Given the description of an element on the screen output the (x, y) to click on. 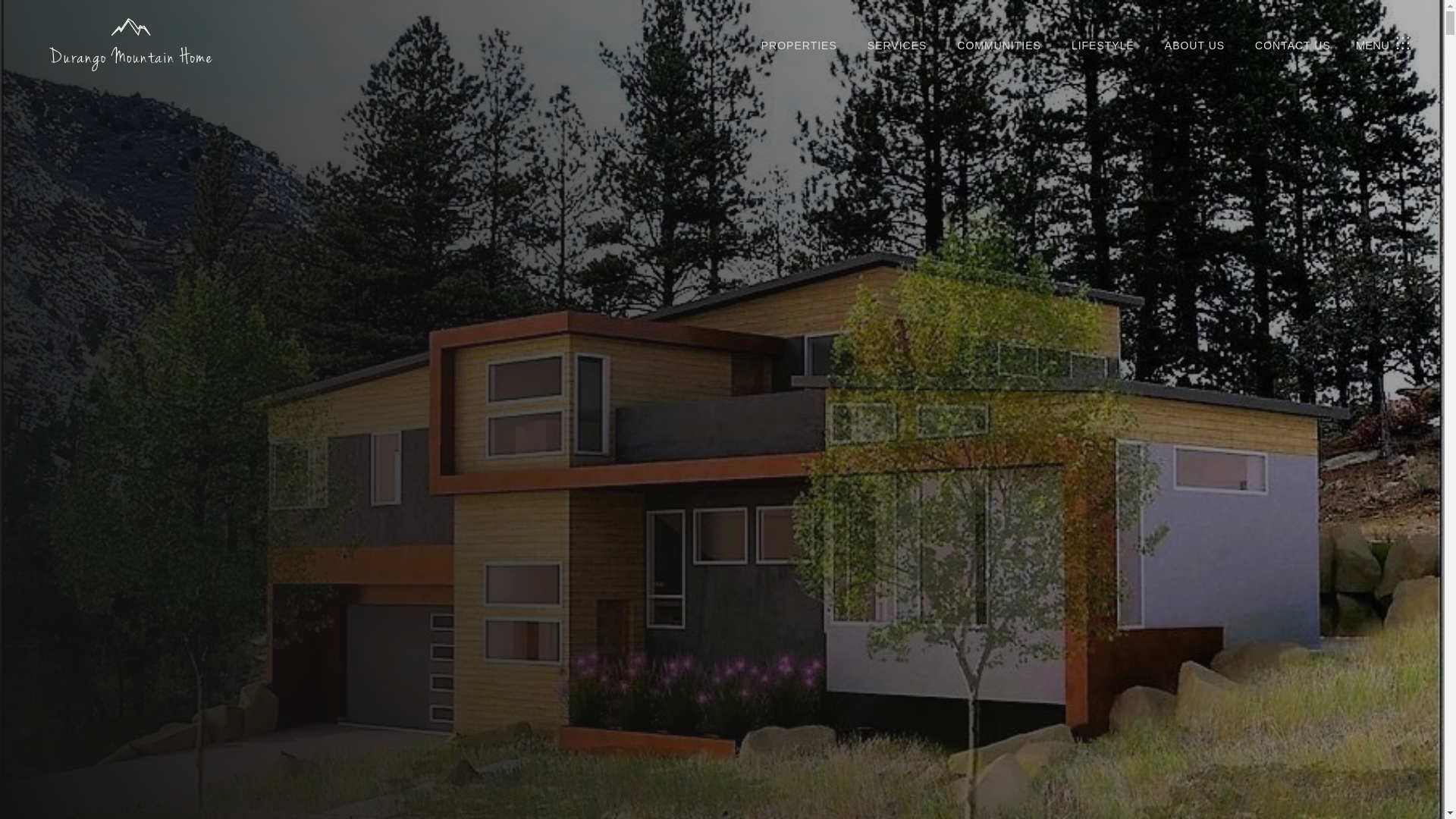
PROPERTIES (799, 45)
CONTACT US (1292, 45)
SERVICES (897, 45)
COMMUNITIES (998, 45)
ABOUT US (1194, 45)
LIFESTYLE (1102, 45)
MENU (1383, 44)
